Given the description of an element on the screen output the (x, y) to click on. 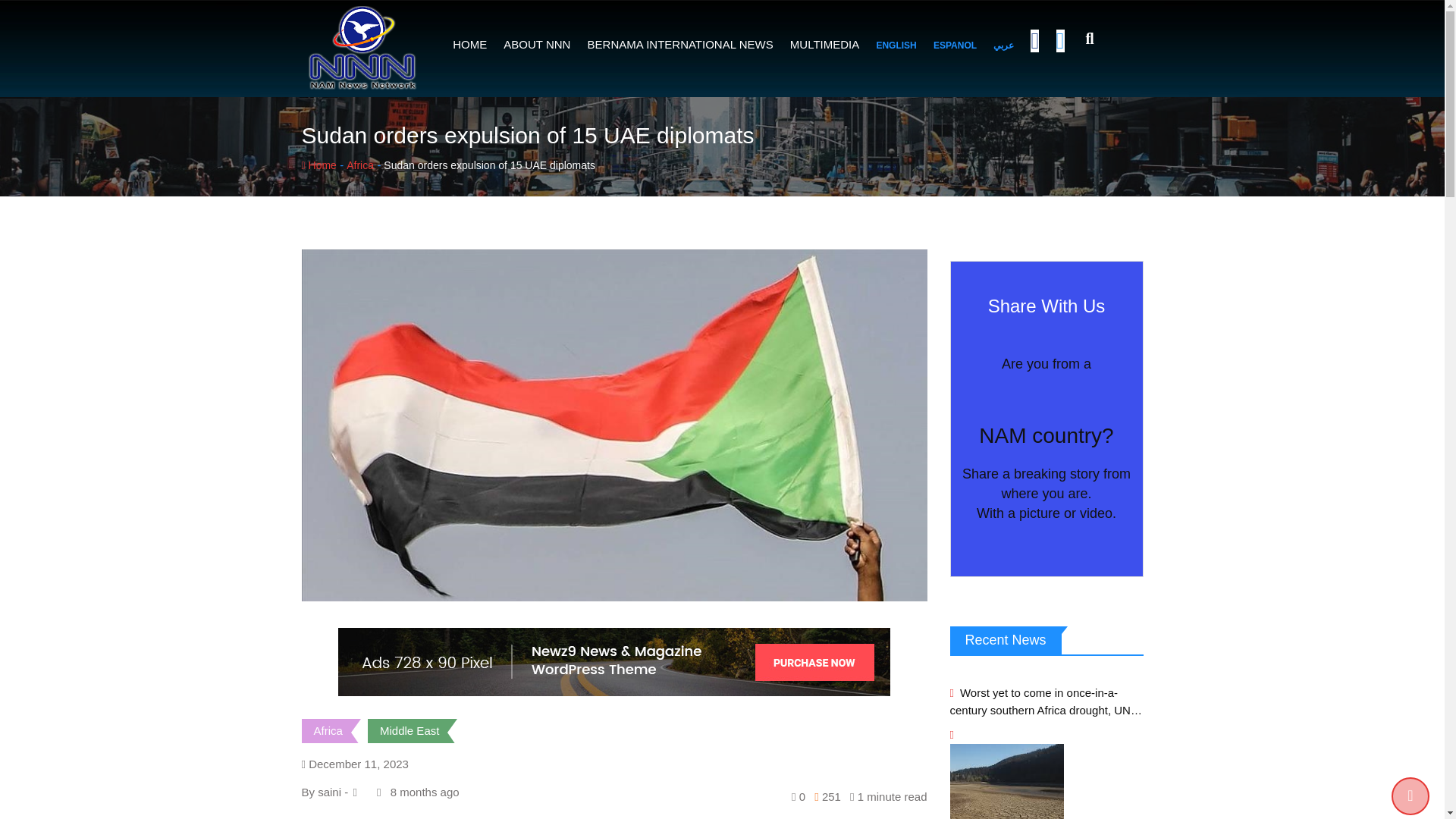
Home (318, 164)
Africa (328, 730)
BERNAMA INTERNATIONAL NEWS (680, 44)
Middle East (409, 730)
ABOUT NNN (536, 44)
Africa (360, 164)
MULTIMEDIA (824, 44)
